Given the description of an element on the screen output the (x, y) to click on. 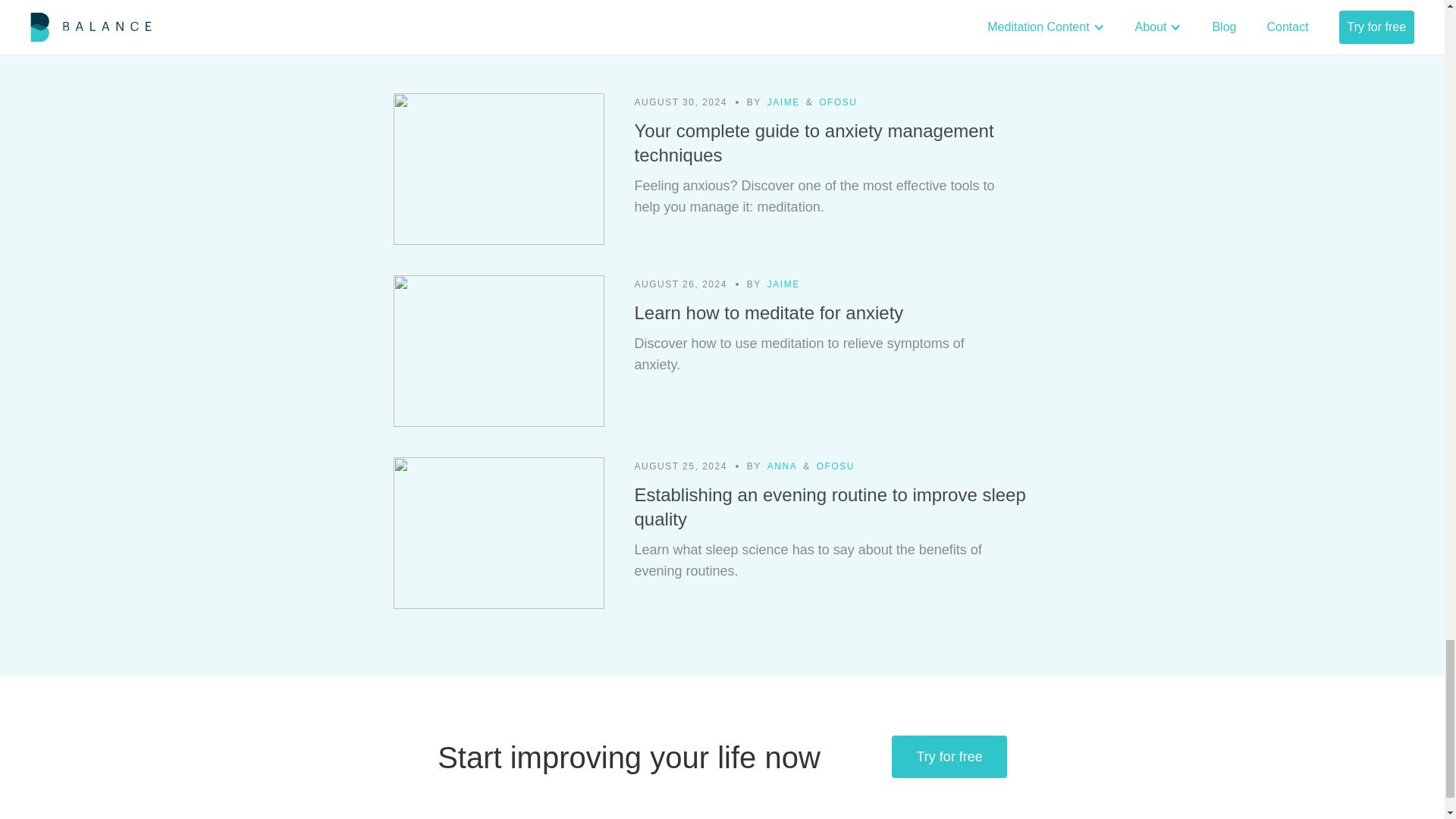
JAIME (783, 102)
OFOSU (837, 102)
